Given the description of an element on the screen output the (x, y) to click on. 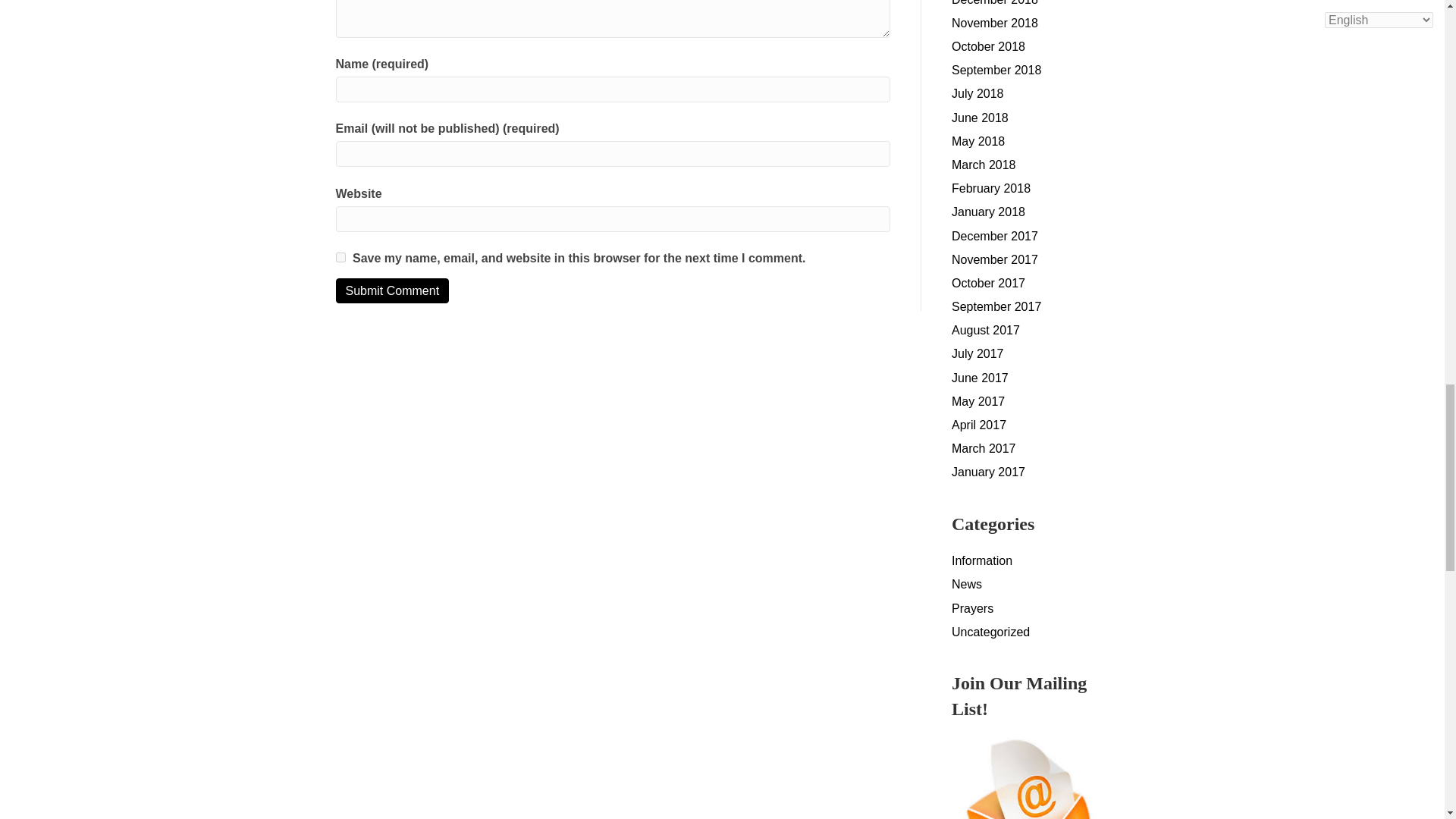
Submit Comment (391, 290)
Submit Comment (391, 290)
yes (339, 257)
